Given the description of an element on the screen output the (x, y) to click on. 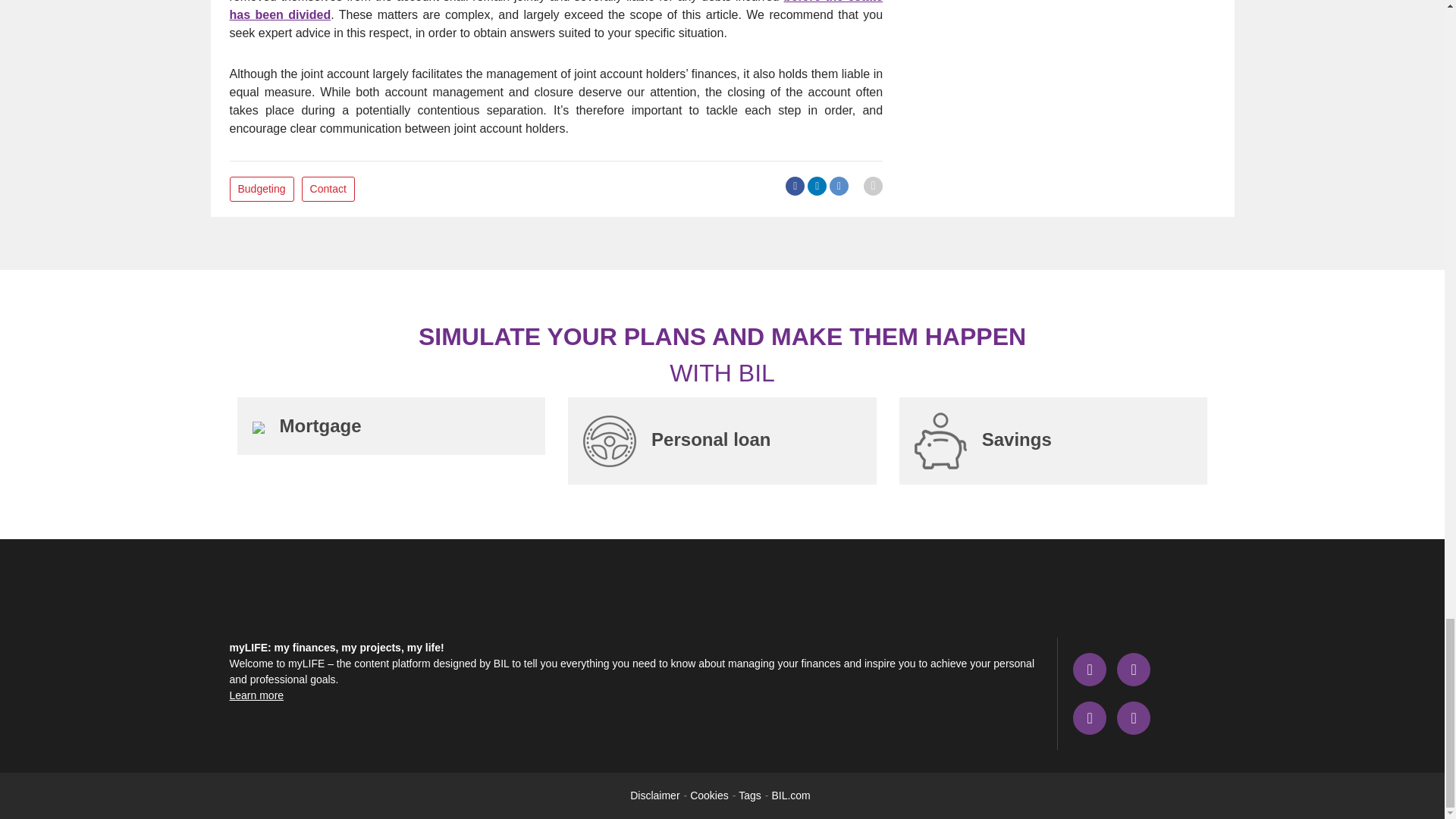
Share on LinkedIn (817, 185)
Share on Tweeter (838, 185)
